Given the description of an element on the screen output the (x, y) to click on. 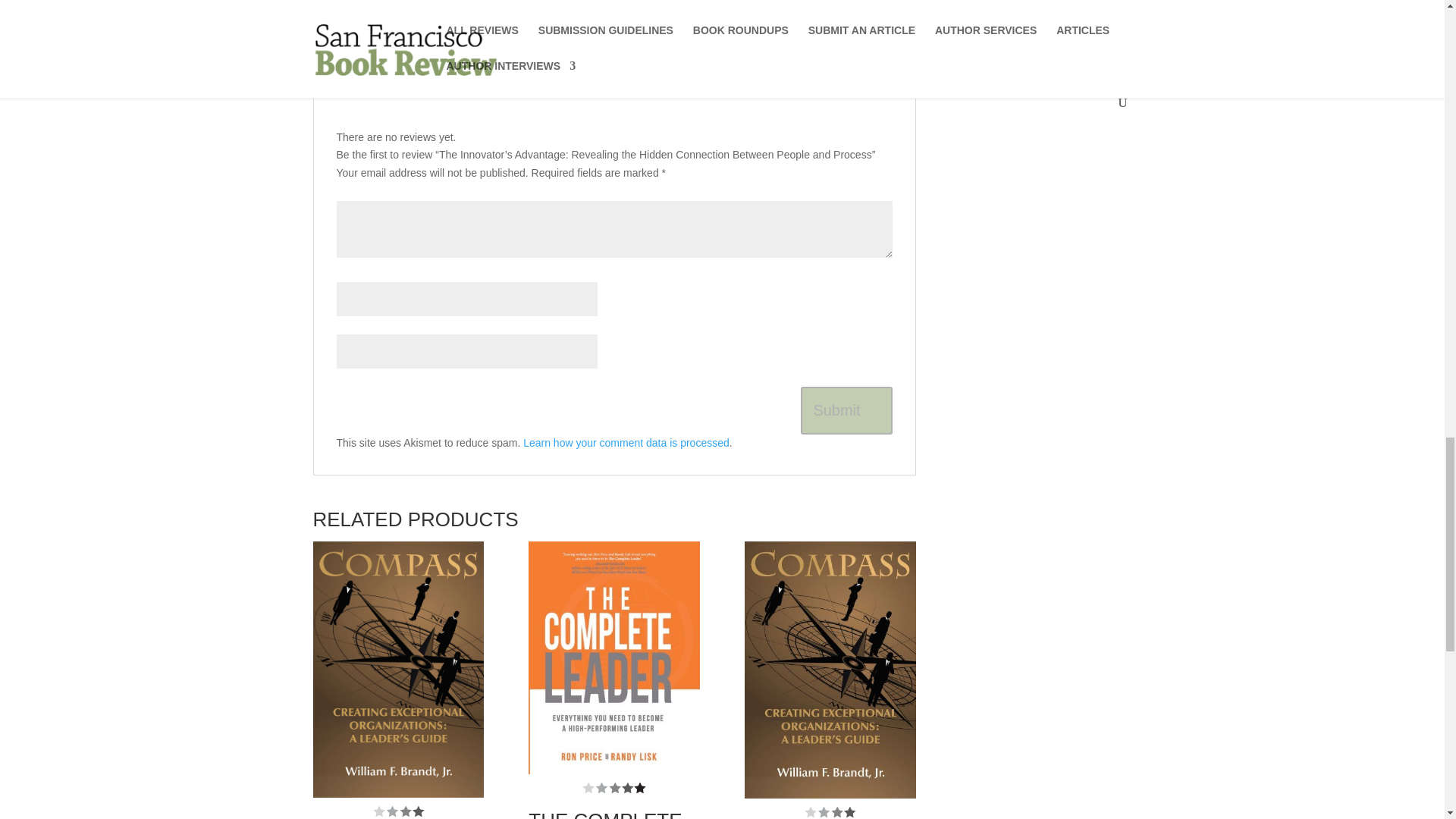
Submit (845, 410)
Submit (845, 410)
Learn how your comment data is processed (625, 442)
